Given the description of an element on the screen output the (x, y) to click on. 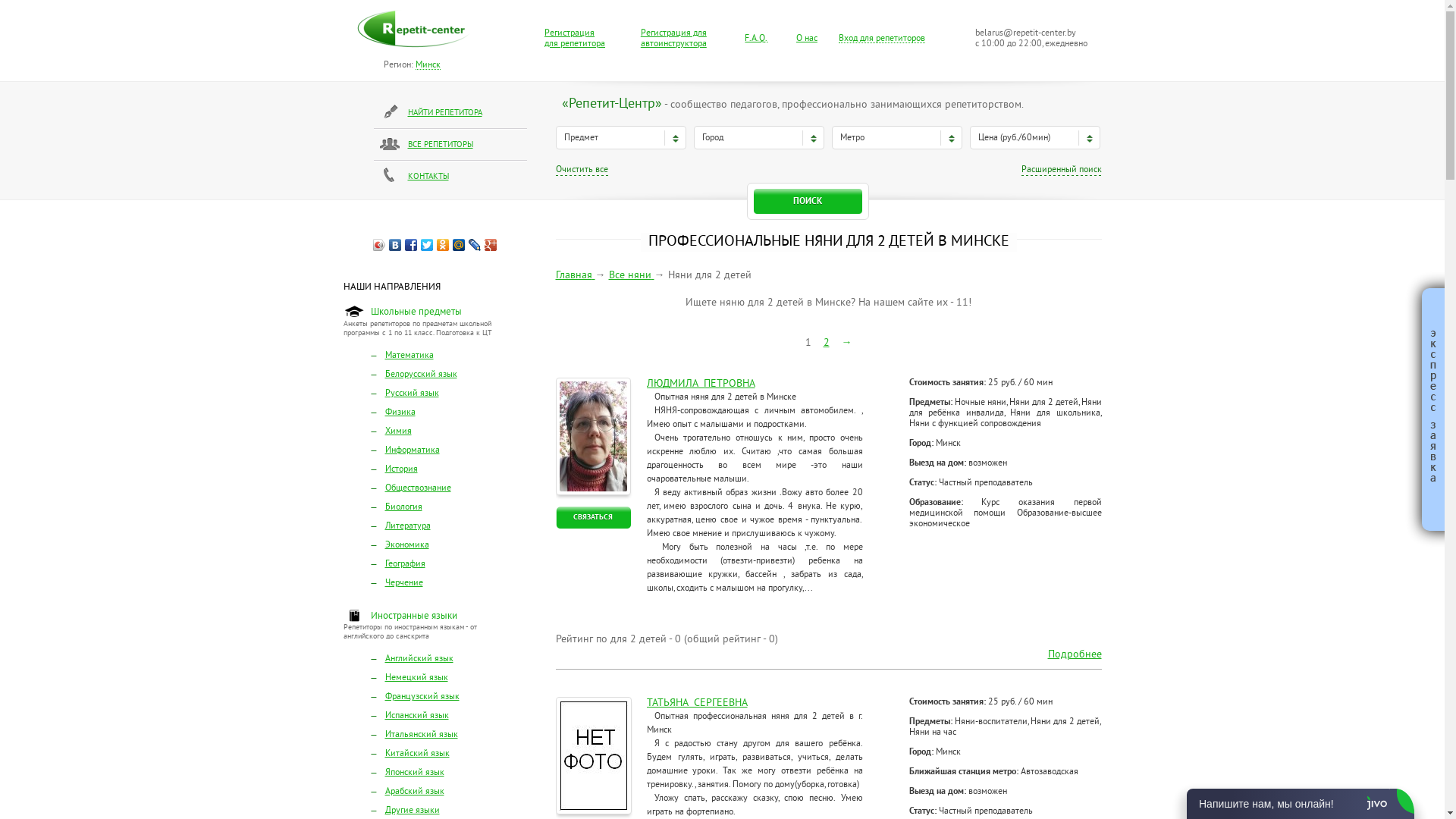
LiveJournal Element type: hover (475, 244)
Facebook Element type: hover (411, 244)
Google Plus Element type: hover (490, 244)
2 Element type: text (826, 343)
Twitter Element type: hover (427, 244)
F.A.Q. Element type: text (755, 38)
